Given the description of an element on the screen output the (x, y) to click on. 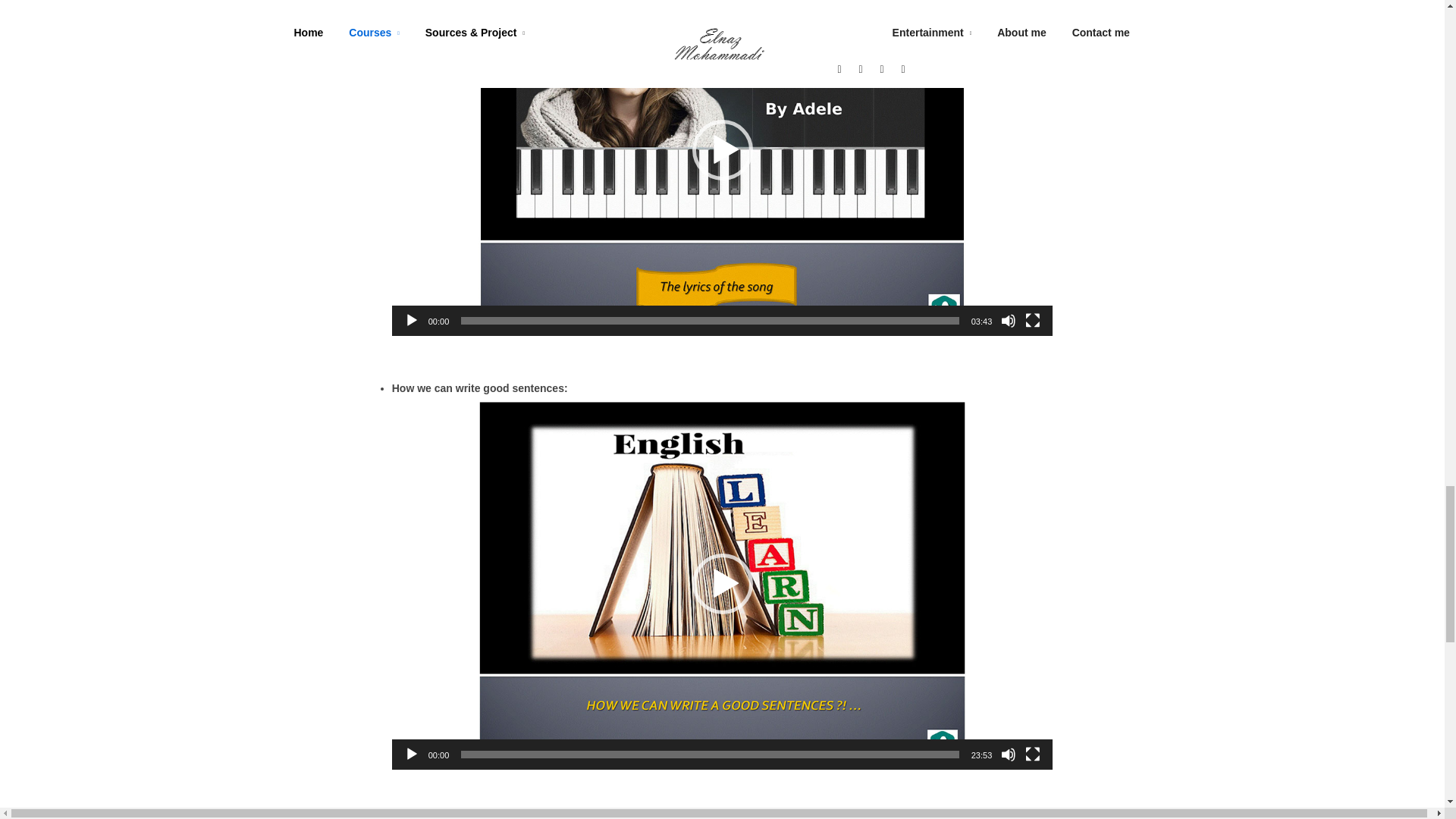
Fullscreen (1033, 320)
Mute (1008, 754)
Play (411, 320)
Fullscreen (1033, 754)
Mute (1008, 320)
Play (411, 754)
